Given the description of an element on the screen output the (x, y) to click on. 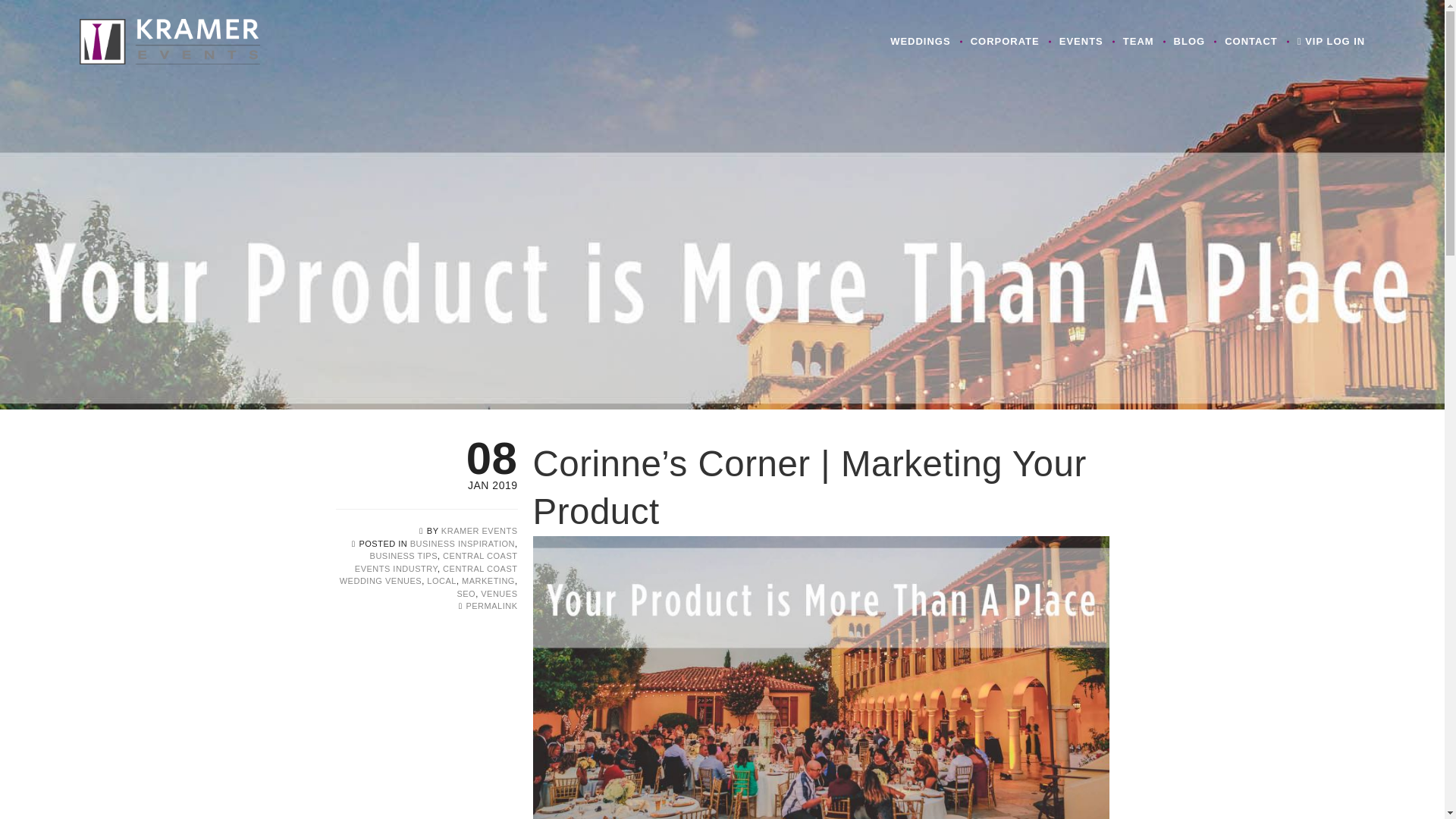
CENTRAL COAST WEDDING VENUES (428, 575)
KRAMER EVENTS (479, 530)
CENTRAL COAST EVENTS INDUSTRY (436, 562)
Posts by Kramer Events (479, 530)
SEO (466, 592)
CONTACT (1250, 41)
EVENTS (1081, 41)
BUSINESS TIPS (403, 555)
WEDDINGS (920, 41)
VENUES (498, 592)
